Given the description of an element on the screen output the (x, y) to click on. 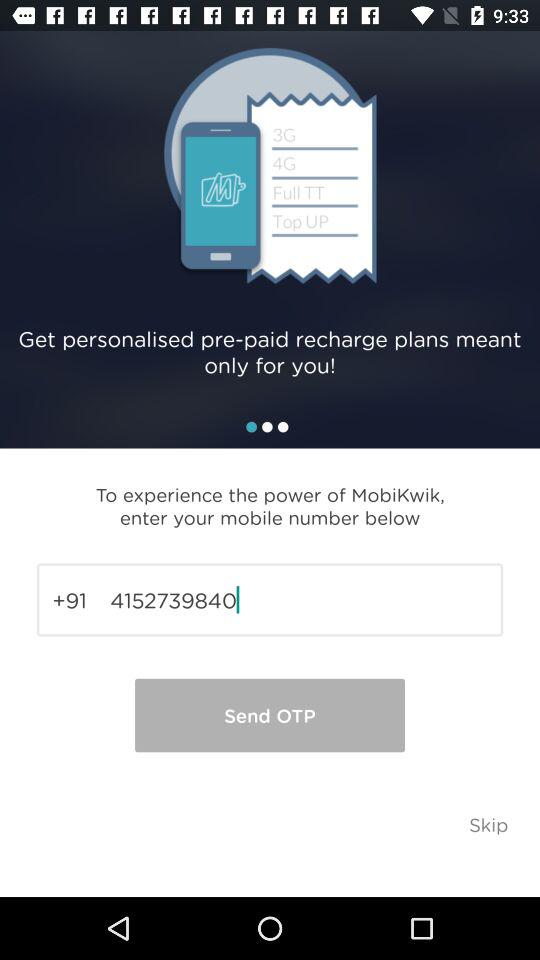
select the skip at the bottom right corner (488, 823)
